Given the description of an element on the screen output the (x, y) to click on. 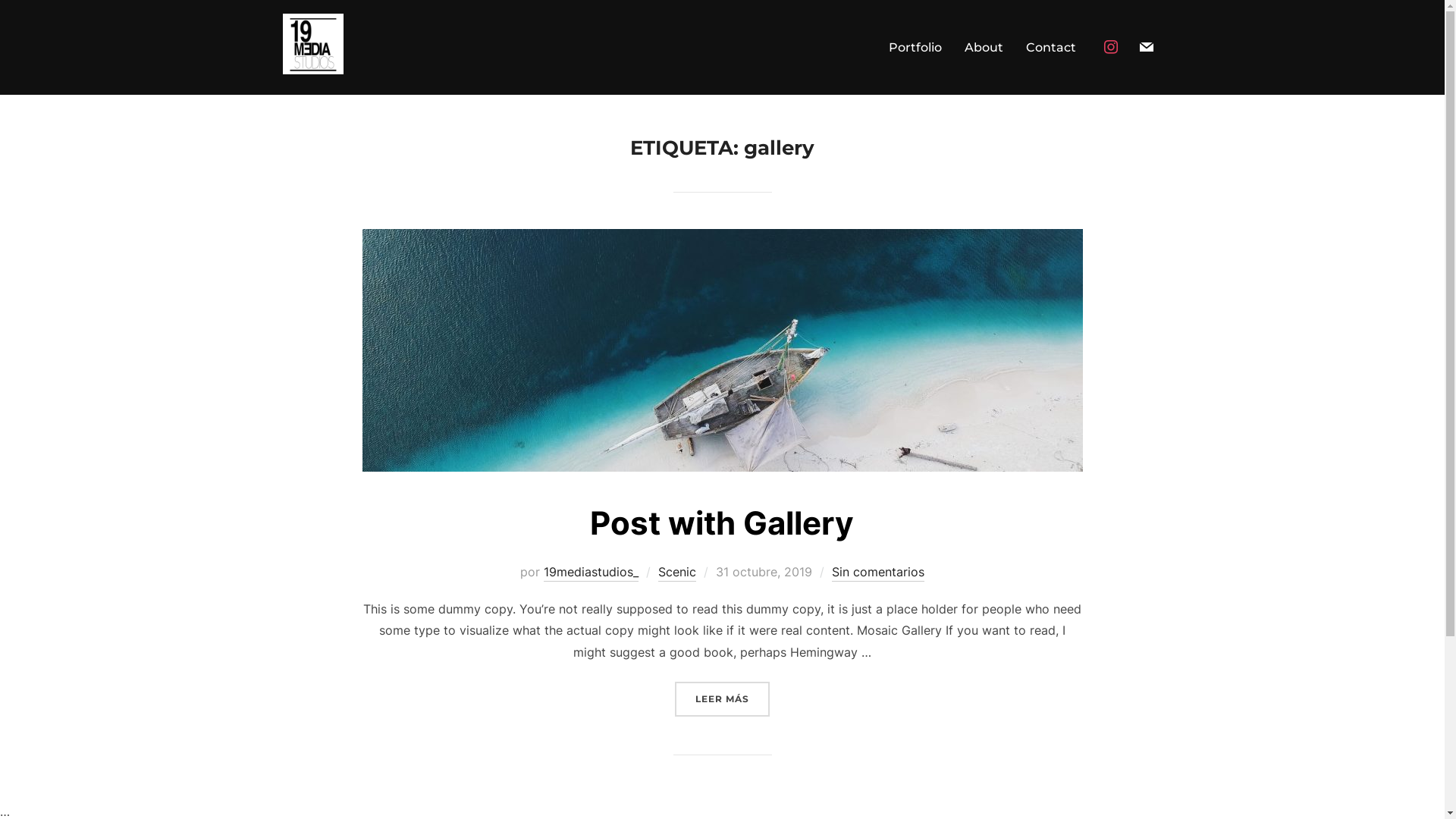
Sin comentarios Element type: text (877, 572)
About Element type: text (983, 47)
19mediastudios_ Element type: text (590, 572)
Contact Element type: text (1050, 47)
Scenic Element type: text (677, 572)
mail Element type: text (1145, 45)
Portfolio Element type: text (914, 47)
Post with Gallery Element type: text (721, 522)
instagram Element type: text (1110, 45)
